Given the description of an element on the screen output the (x, y) to click on. 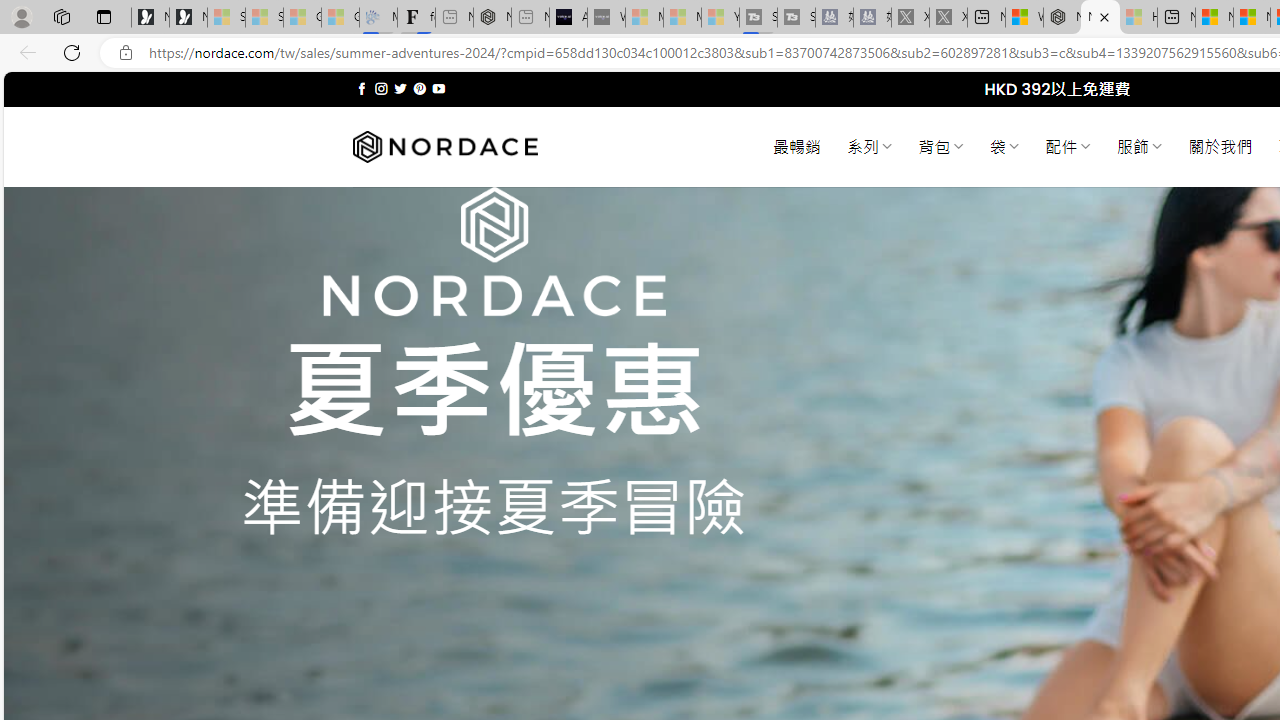
Newsletter Sign Up (188, 17)
What's the best AI voice generator? - voice.ai - Sleeping (605, 17)
Follow on Twitter (400, 88)
Follow on Instagram (381, 88)
Microsoft Start - Sleeping (682, 17)
